Given the description of an element on the screen output the (x, y) to click on. 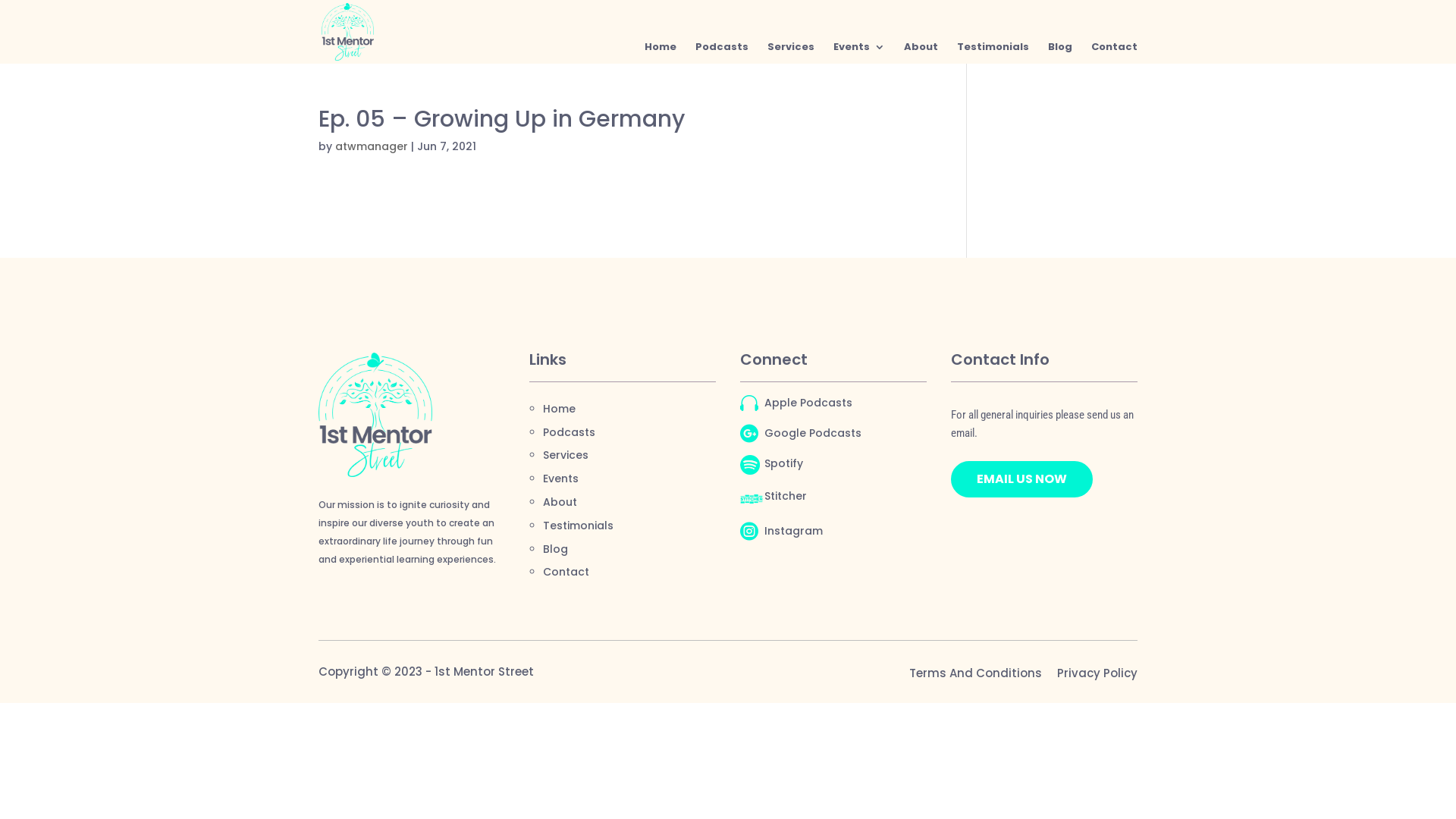
EMAIL US NOW Element type: text (1021, 478)
Events Element type: text (560, 478)
Terms And Conditions Element type: text (975, 672)
Podcasts Element type: text (568, 431)
Podcasts Element type: text (721, 52)
Services Element type: text (565, 454)
About Element type: text (559, 501)
Services Element type: text (790, 52)
Privacy Policy Element type: text (1097, 672)
atwmanager Element type: text (371, 145)
Blog Element type: text (1060, 52)
Blog Element type: text (554, 548)
About Element type: text (920, 52)
Contact Element type: text (1114, 52)
Testimonials Element type: text (993, 52)
Events Element type: text (858, 52)
Contact Element type: text (565, 571)
Home Element type: text (558, 408)
Home Element type: text (660, 52)
logo-sm-1 Element type: hover (375, 414)
Testimonials Element type: text (577, 525)
